Given the description of an element on the screen output the (x, y) to click on. 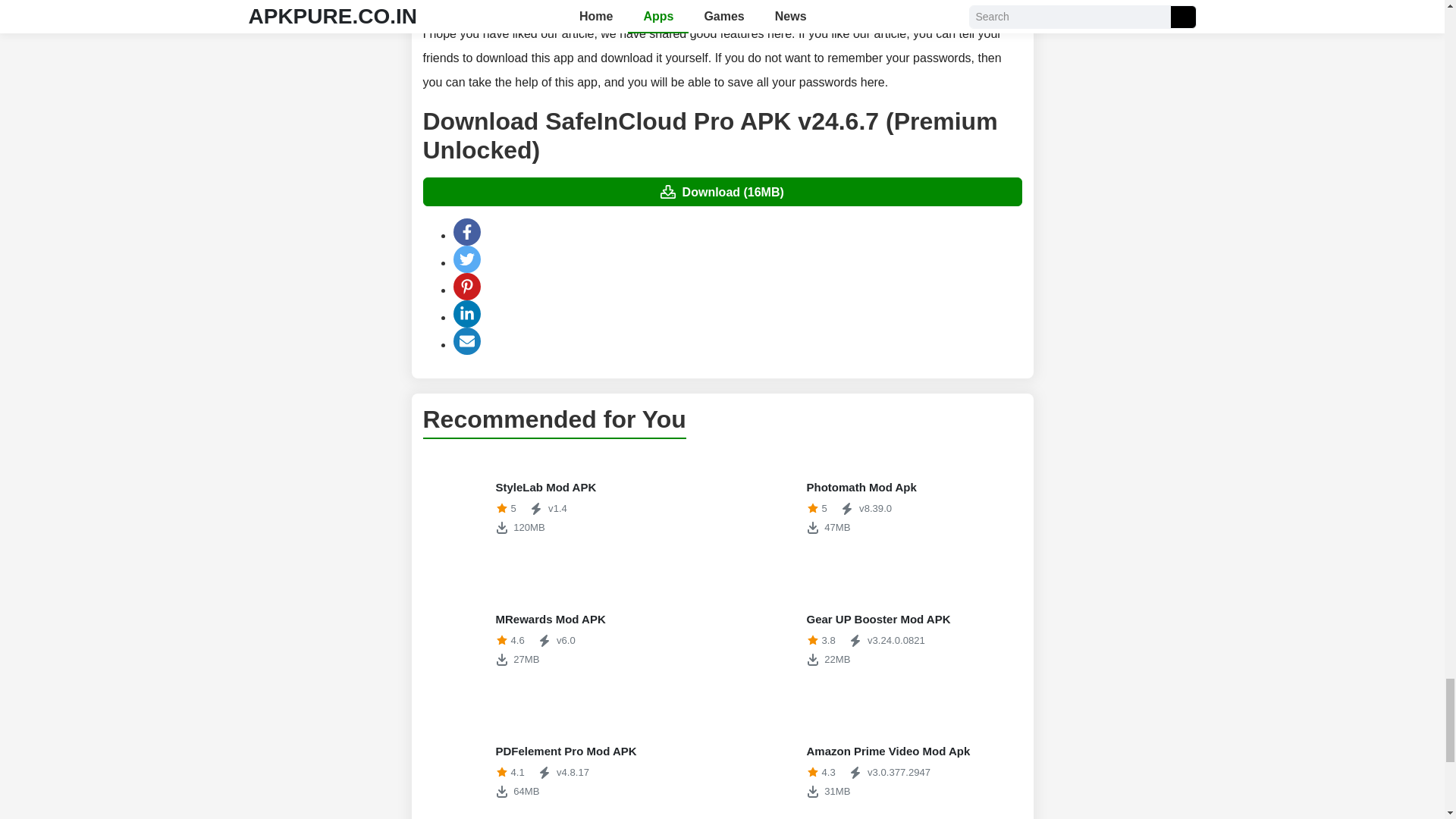
 StyleLab Mod APK (567, 508)
 Photomath Mod Apk (877, 508)
 PDFelement Pro Mod APK  (567, 508)
 Amazon Prime Video Mod Apk (877, 639)
 Gear UP Booster Mod APK (567, 766)
